Given the description of an element on the screen output the (x, y) to click on. 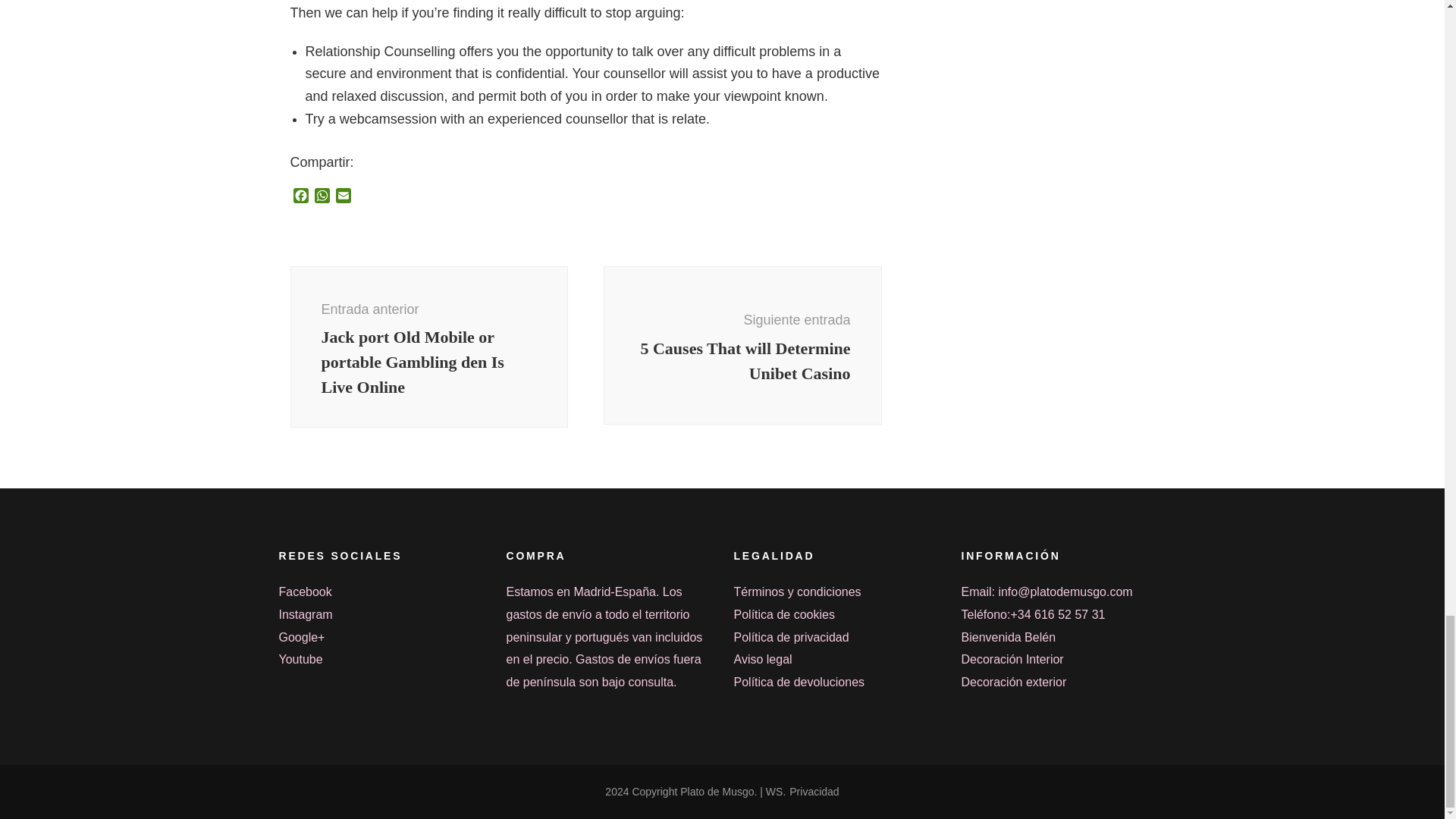
WhatsApp (321, 197)
Facebook (300, 197)
Facebook (300, 197)
Email (342, 197)
WhatsApp (321, 197)
